Given the description of an element on the screen output the (x, y) to click on. 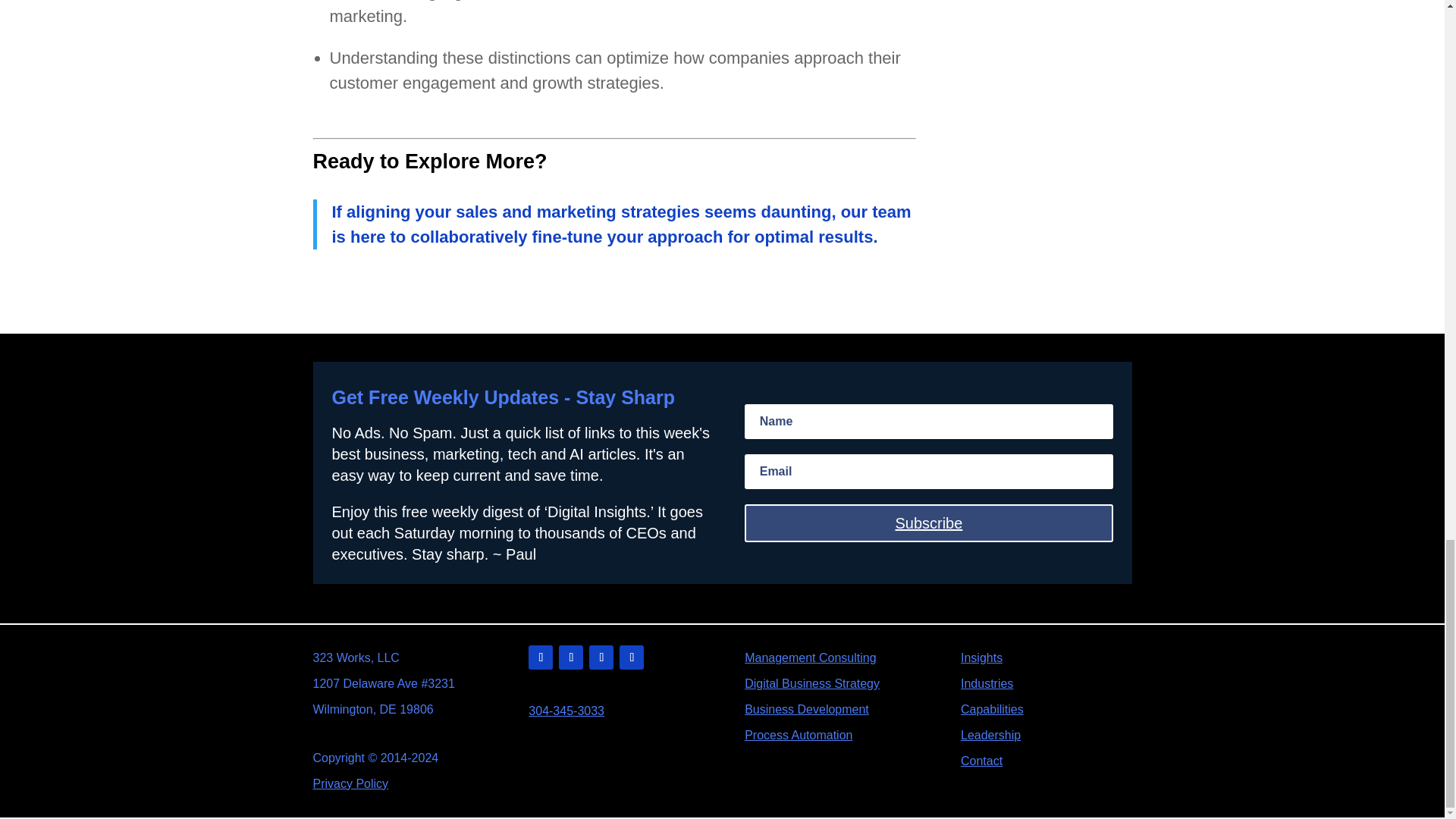
Industries (986, 683)
Contact (981, 760)
Process Automation (797, 735)
Follow on Instagram (631, 657)
Digital Business Strategy (811, 683)
Management Consulting (810, 657)
Privacy Policy (350, 783)
Subscribe (928, 523)
Insights (981, 657)
Business Development (806, 708)
304-345-3033 (566, 710)
Capabilities (991, 708)
Follow on LinkedIn (540, 657)
Leadership (990, 735)
Follow on X (571, 657)
